Given the description of an element on the screen output the (x, y) to click on. 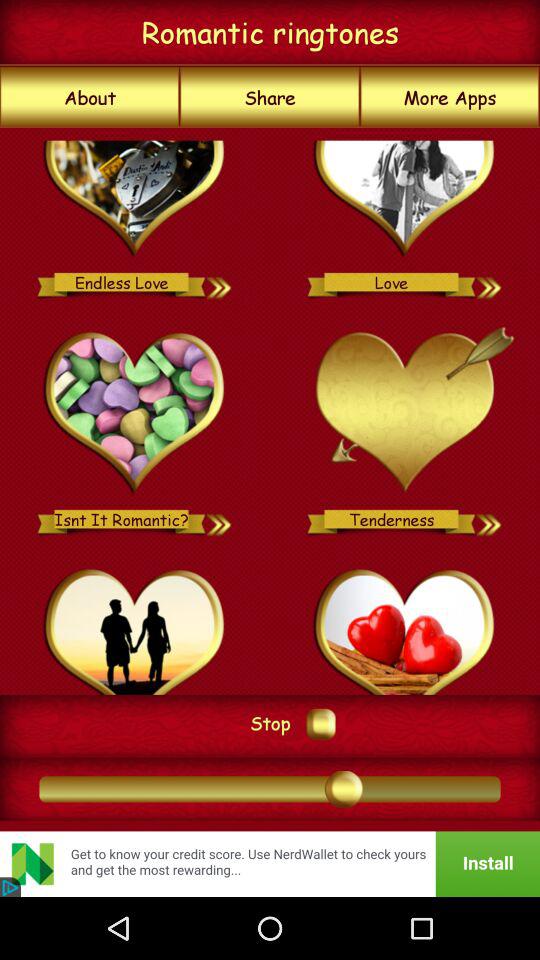
click the app below romantic ringtones app (270, 97)
